Given the description of an element on the screen output the (x, y) to click on. 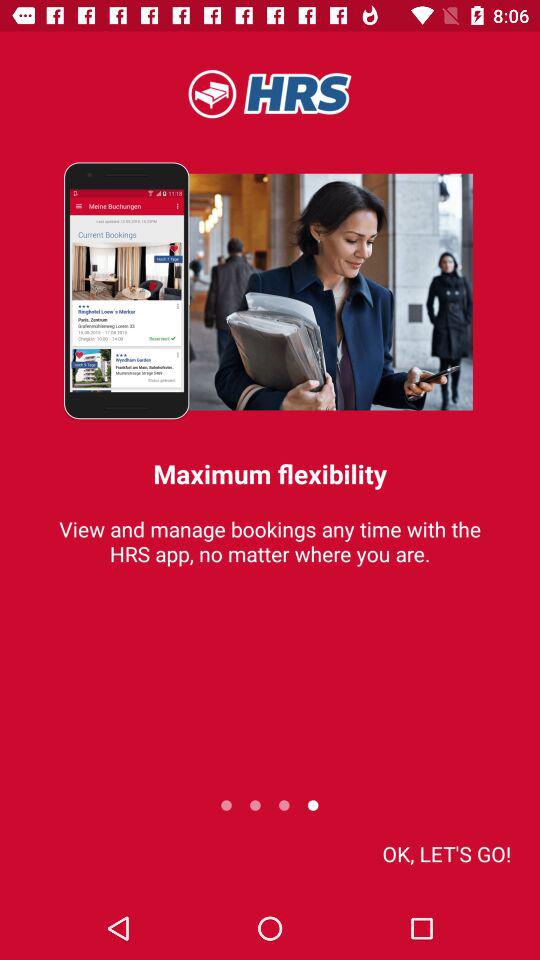
turn off ok let s item (446, 853)
